Given the description of an element on the screen output the (x, y) to click on. 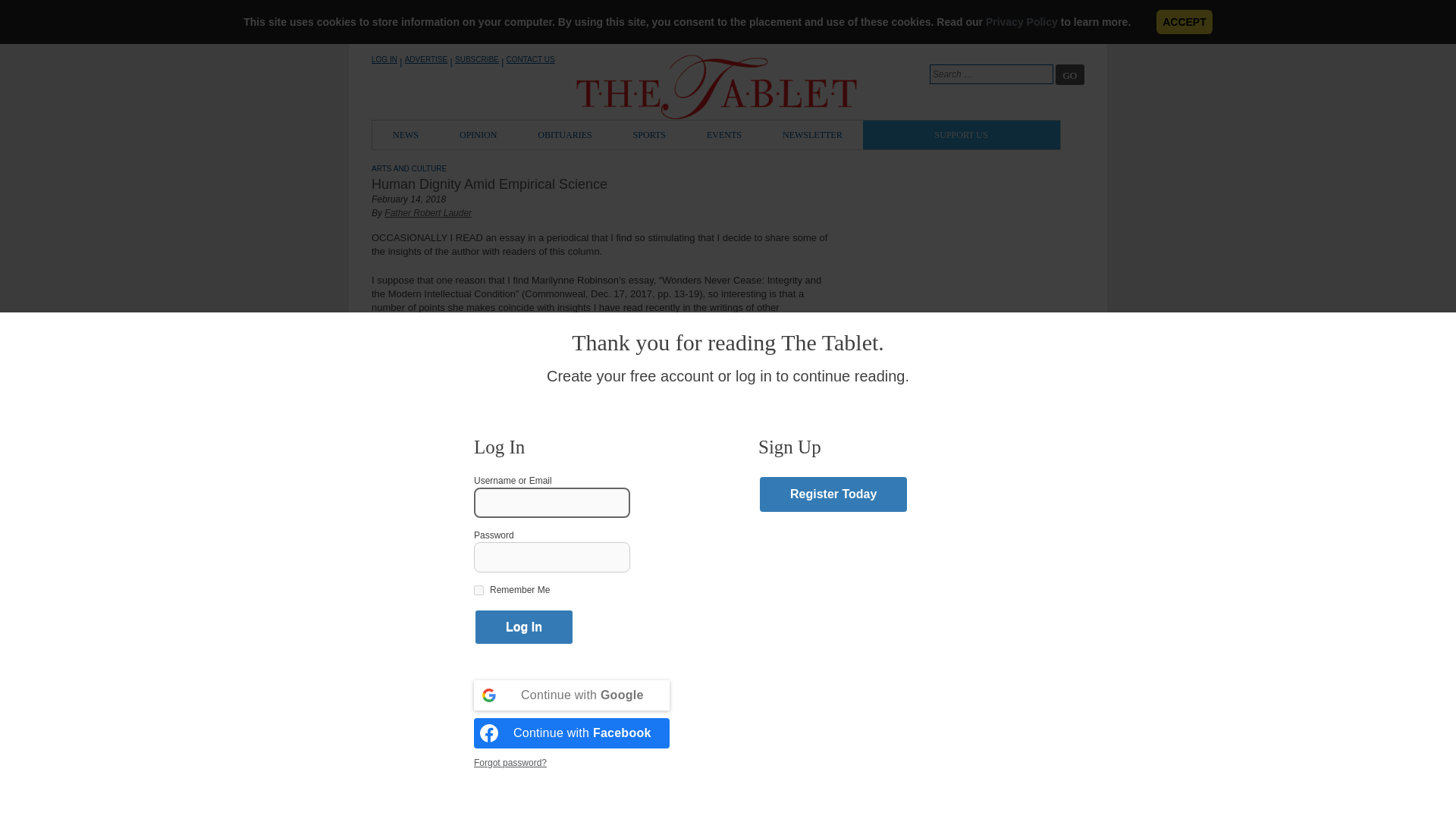
Posts by Father Robert Lauder (427, 213)
GO (1069, 74)
GO (1069, 74)
Privacy Policy (1021, 21)
CONTACT US (530, 59)
EVENTS (723, 134)
SUBSCRIBE (476, 59)
ADVERTISE (426, 59)
NEWS (405, 134)
SUPPORT US (961, 134)
ACCEPT (1184, 21)
3rd party ad content (970, 689)
GO (1069, 74)
forever (478, 590)
LOG IN (384, 59)
